Given the description of an element on the screen output the (x, y) to click on. 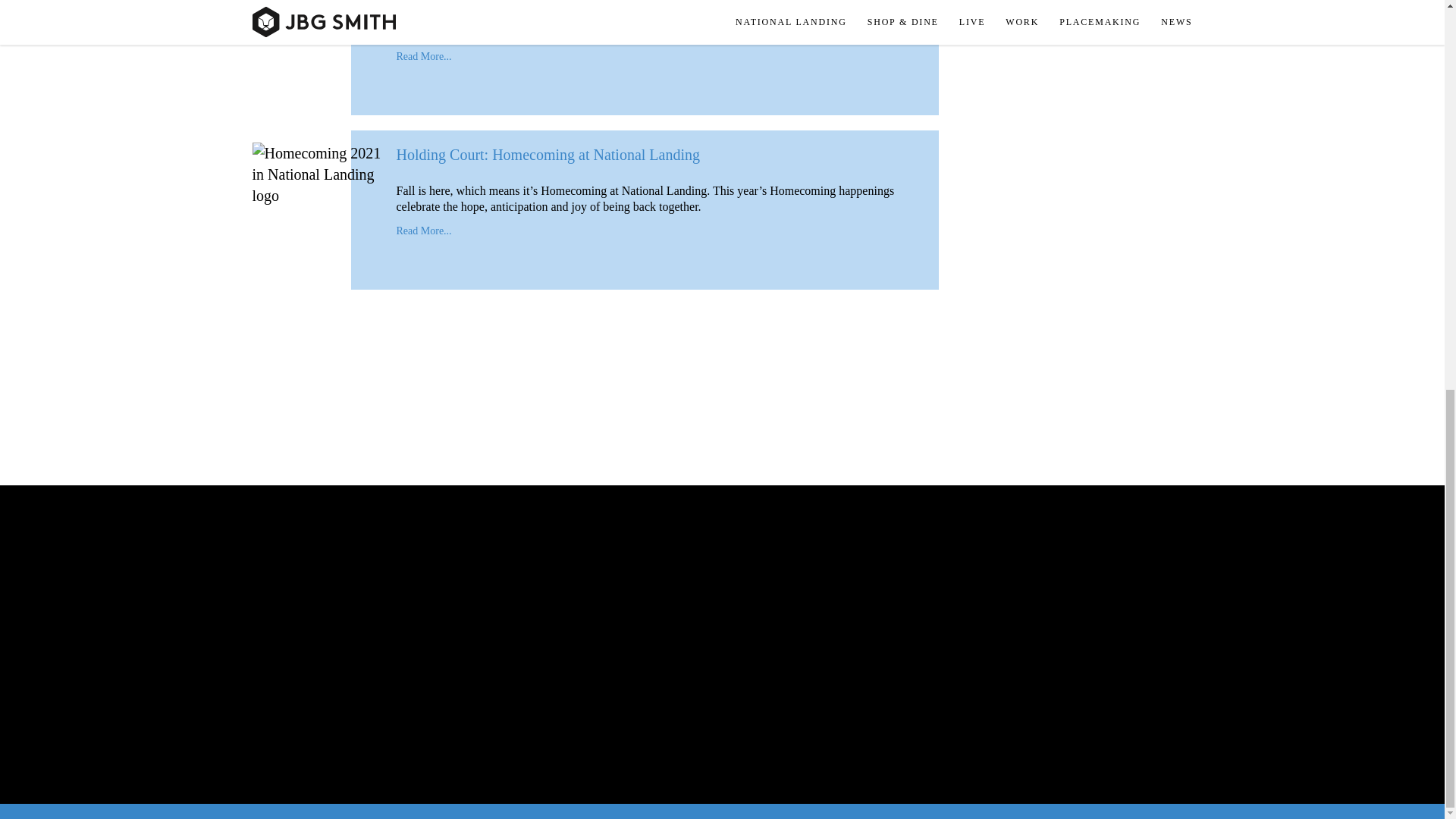
Read More... (423, 230)
Read More... (423, 56)
Holding Court: Homecoming at National Landing (548, 154)
